Given the description of an element on the screen output the (x, y) to click on. 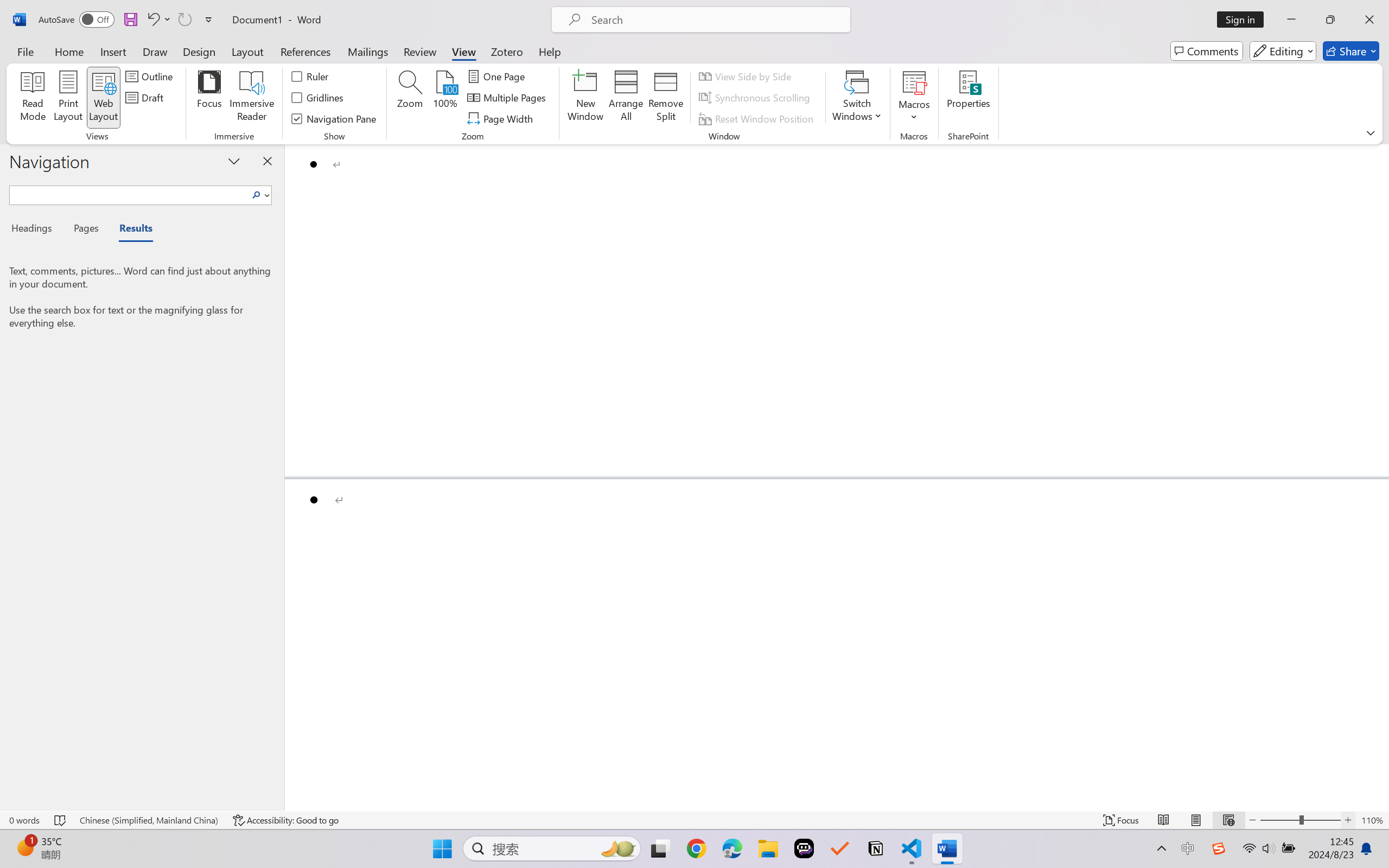
Zoom 110% (1372, 819)
Pages (85, 229)
Macros (914, 97)
Multiple Pages (507, 97)
Draft (146, 97)
Can't Repeat (184, 19)
